Given the description of an element on the screen output the (x, y) to click on. 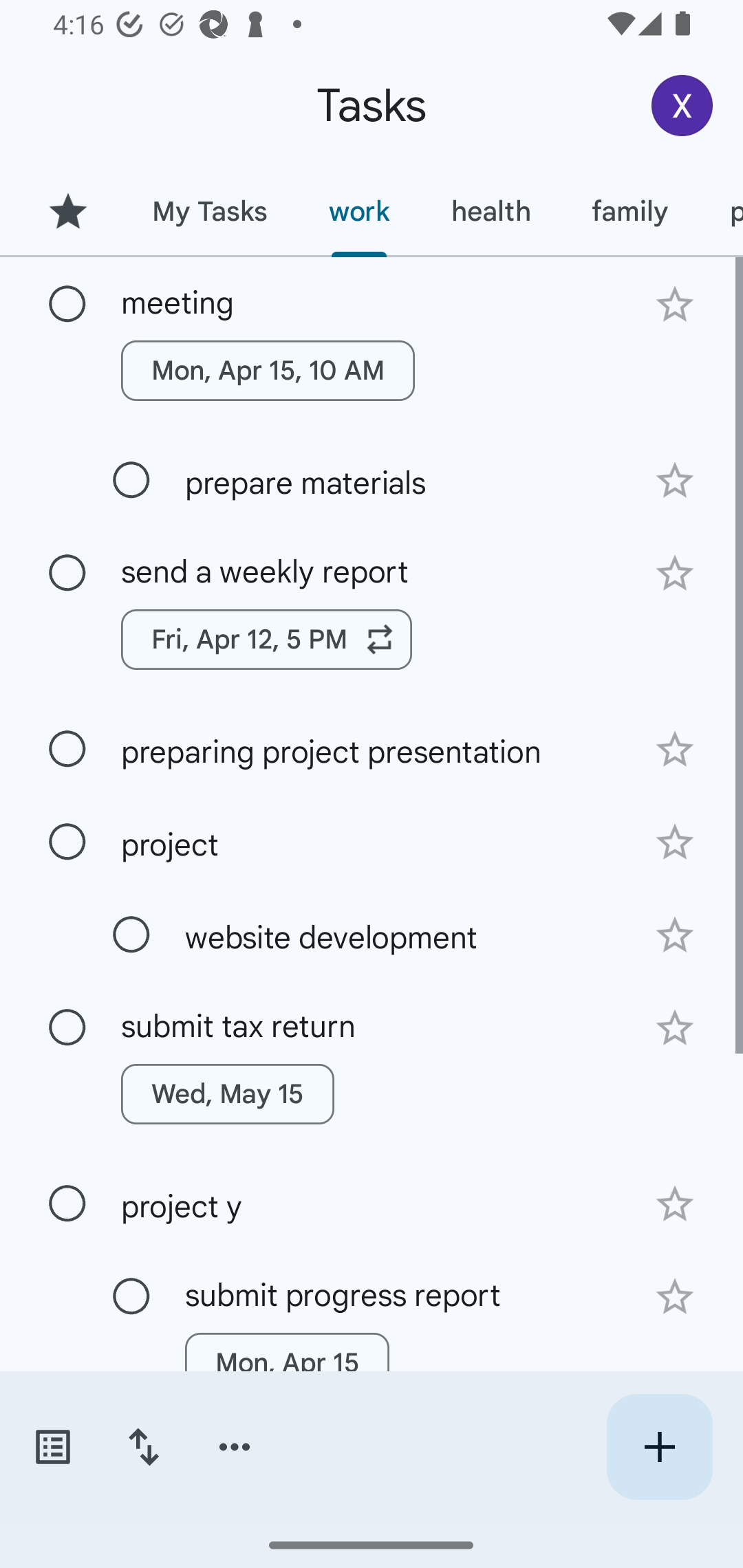
Starred (67, 211)
My Tasks (209, 211)
health (490, 211)
family (629, 211)
Add star (674, 303)
Mark as complete (67, 304)
Mon, Apr 15, 10 AM (267, 369)
Add star (674, 480)
Mark as complete (131, 480)
Add star (674, 573)
Mark as complete (67, 572)
Fri, Apr 12, 5 PM (266, 639)
Add star (674, 749)
Mark as complete (67, 750)
Add star (674, 841)
Mark as complete (67, 842)
Add star (674, 935)
Mark as complete (131, 935)
Add star (674, 1028)
Mark as complete (67, 1027)
Wed, May 15 (227, 1093)
Add star (674, 1203)
Mark as complete (67, 1204)
Add star (674, 1296)
Mark as complete (131, 1297)
Switch task lists (52, 1447)
Create new task (659, 1446)
Change sort order (143, 1446)
More options (234, 1446)
